Given the description of an element on the screen output the (x, y) to click on. 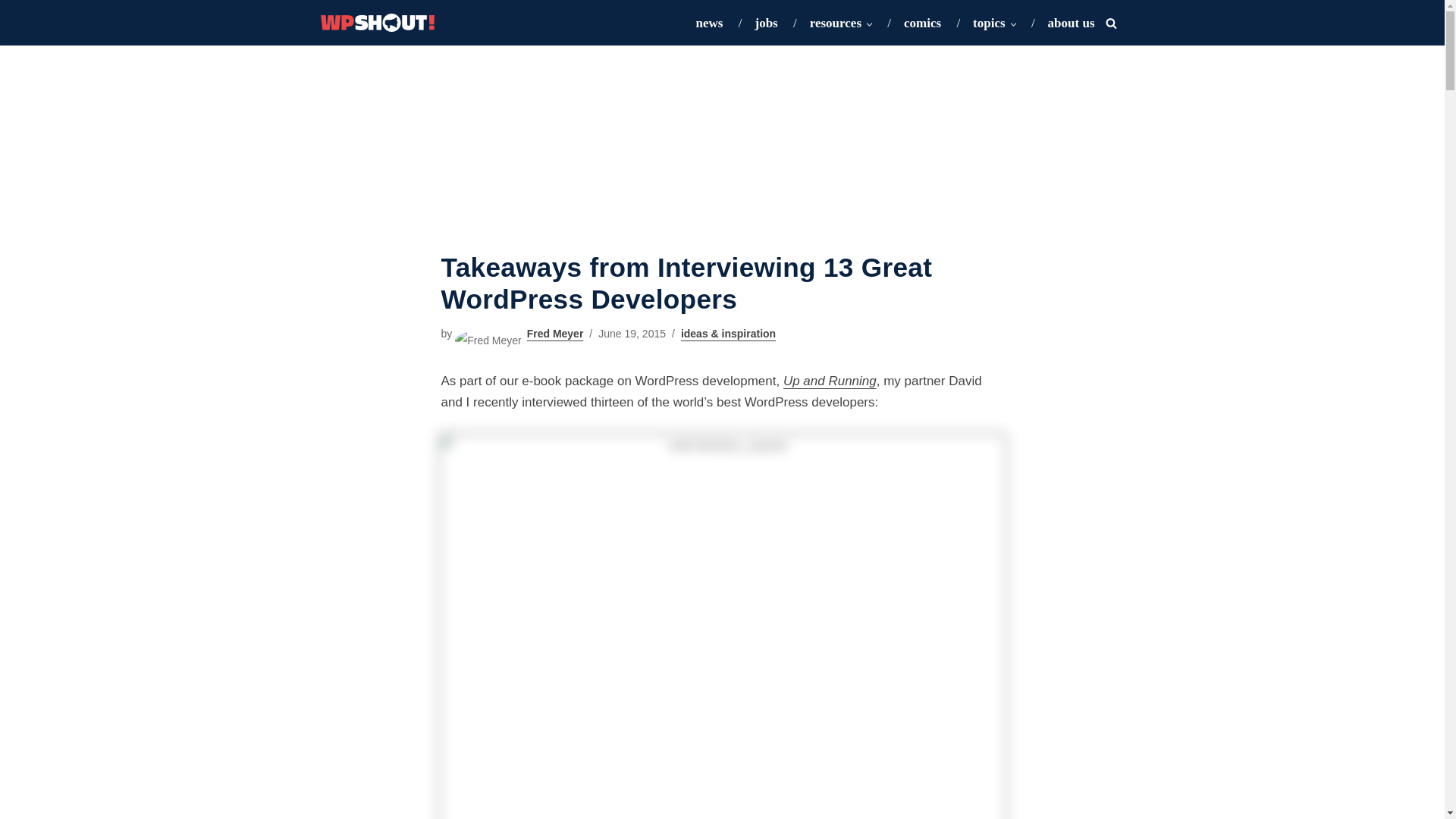
Skip to content (11, 31)
Posts by Fred Meyer (555, 333)
resources (835, 22)
about us (1071, 22)
